Given the description of an element on the screen output the (x, y) to click on. 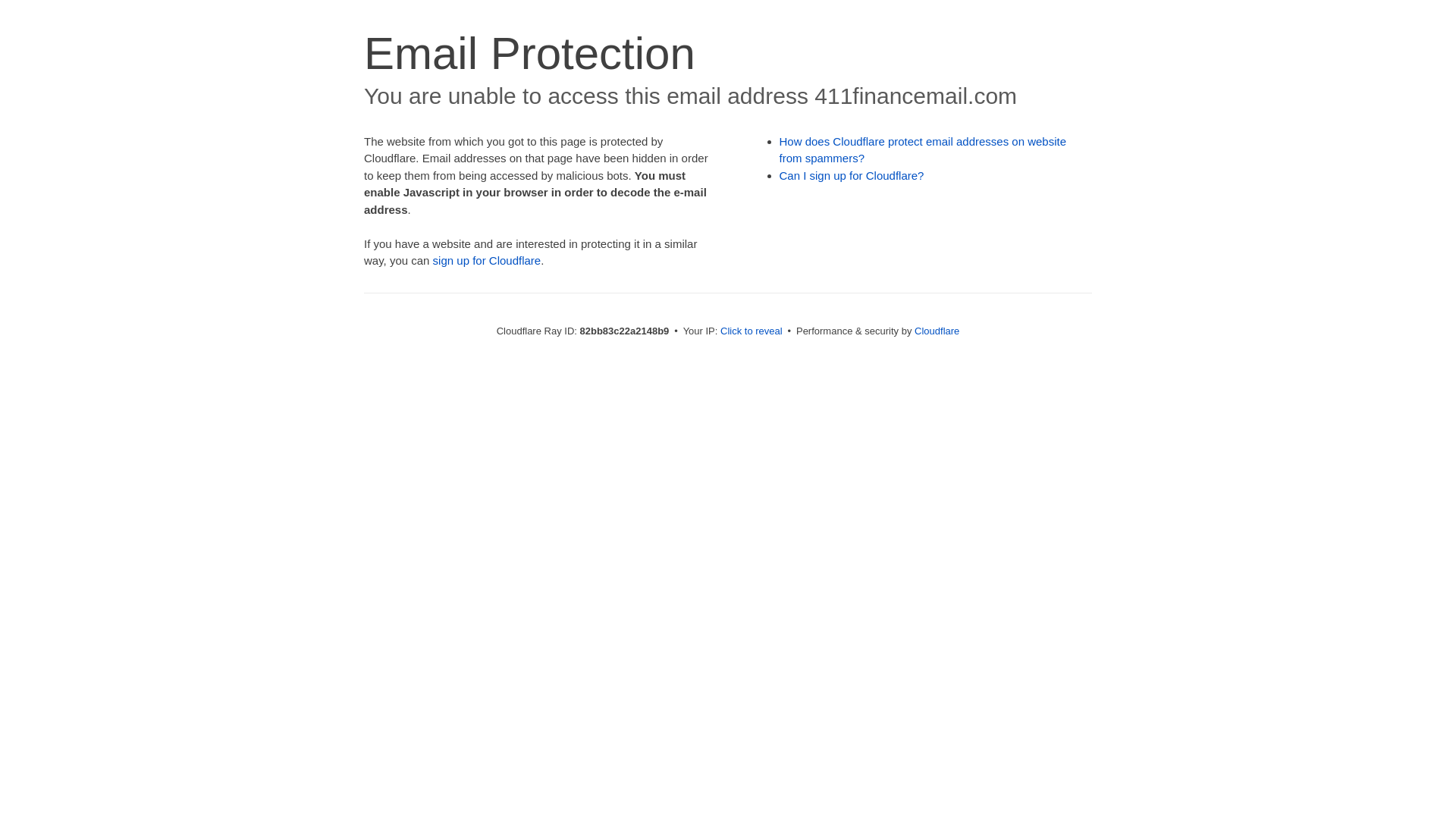
Cloudflare Element type: text (936, 330)
Can I sign up for Cloudflare? Element type: text (851, 175)
Click to reveal Element type: text (751, 330)
sign up for Cloudflare Element type: text (487, 260)
